Given the description of an element on the screen output the (x, y) to click on. 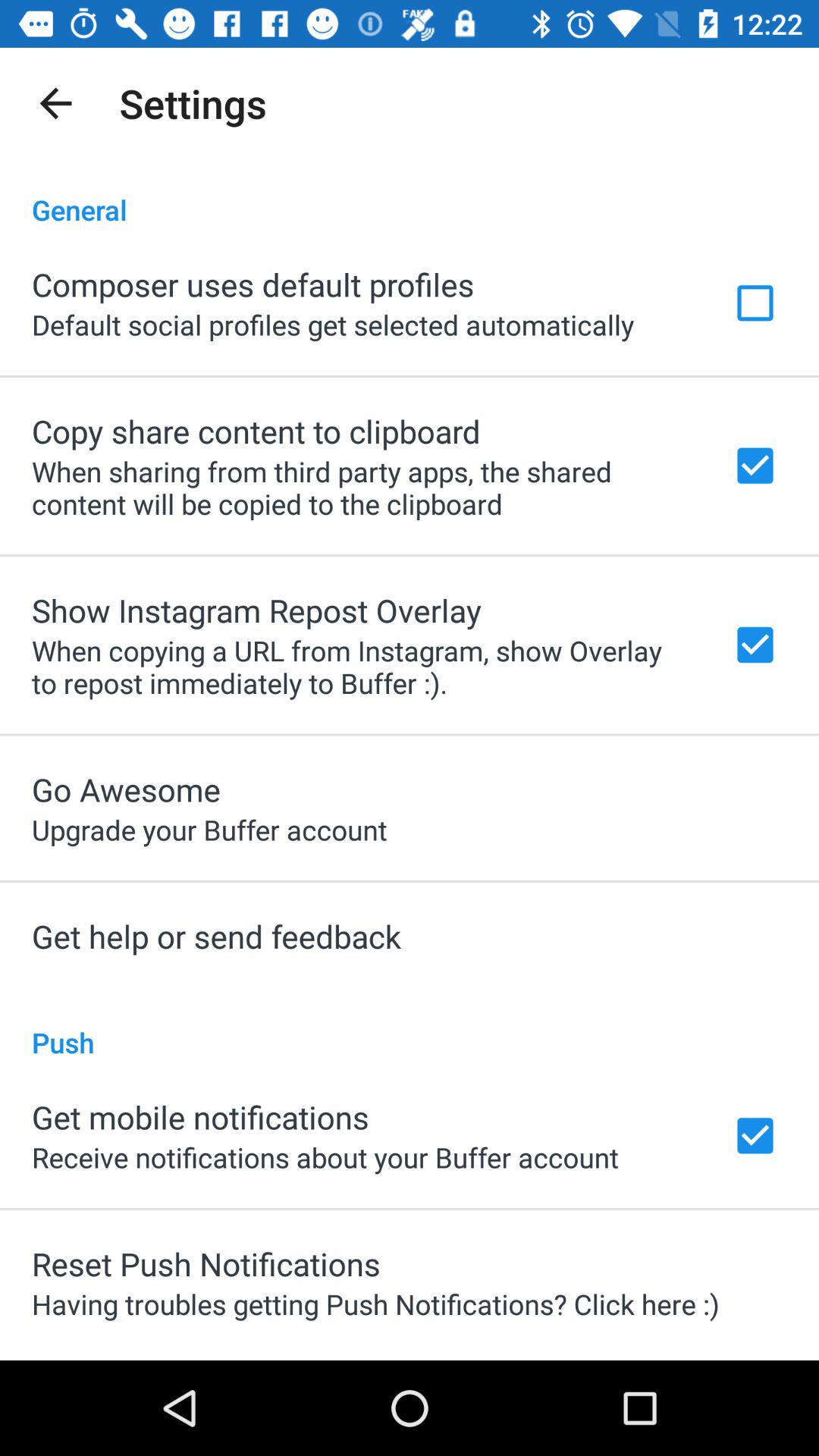
choose the app next to settings (55, 103)
